Given the description of an element on the screen output the (x, y) to click on. 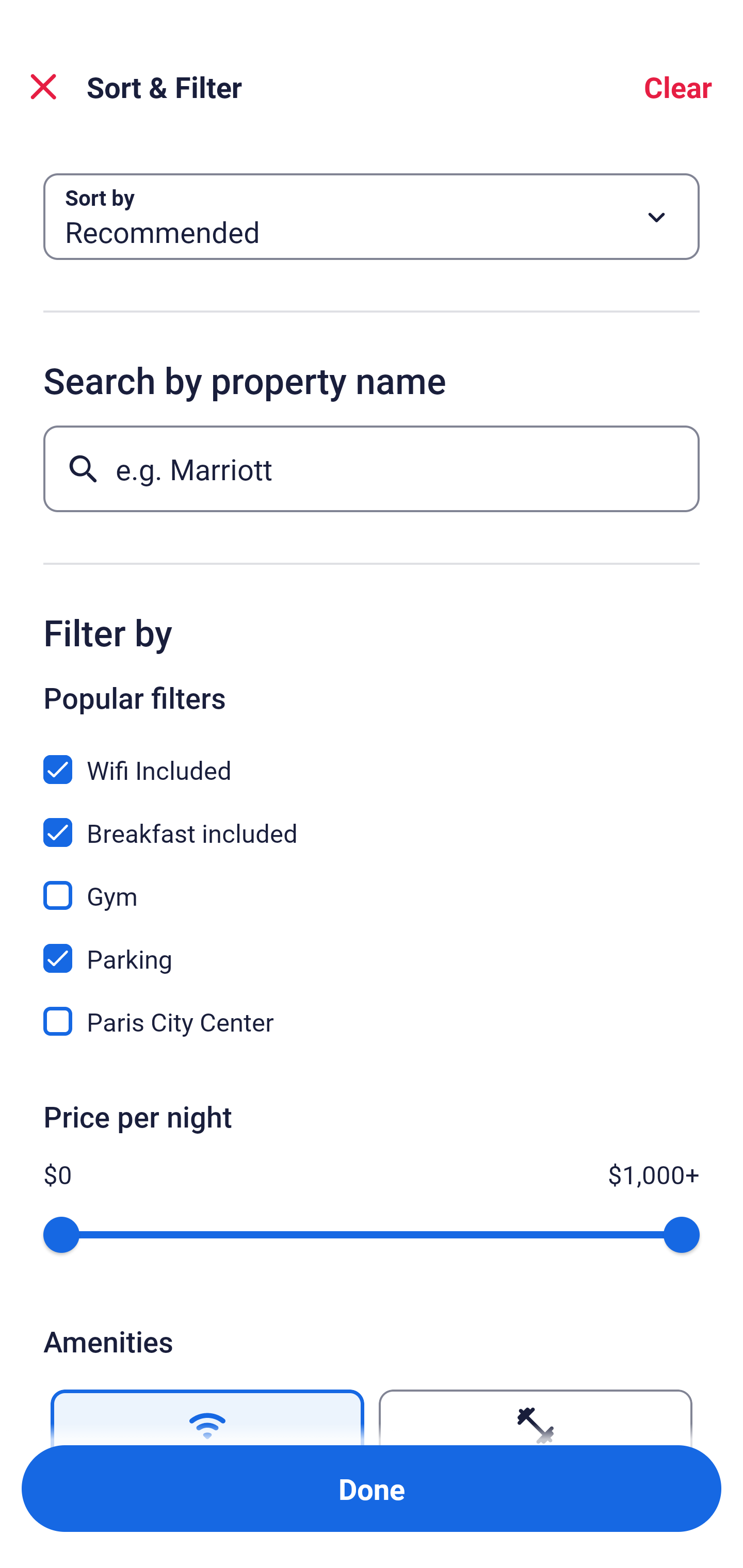
Close Sort and Filter (43, 86)
Clear (677, 86)
Sort by Button Recommended (371, 217)
e.g. Marriott Button (371, 468)
Wifi Included, Wifi Included (371, 757)
Breakfast included, Breakfast included (371, 821)
Gym, Gym (371, 883)
Parking, Parking (371, 946)
Paris City Center, Paris City Center (371, 1021)
Apply and close Sort and Filter Done (371, 1488)
